Given the description of an element on the screen output the (x, y) to click on. 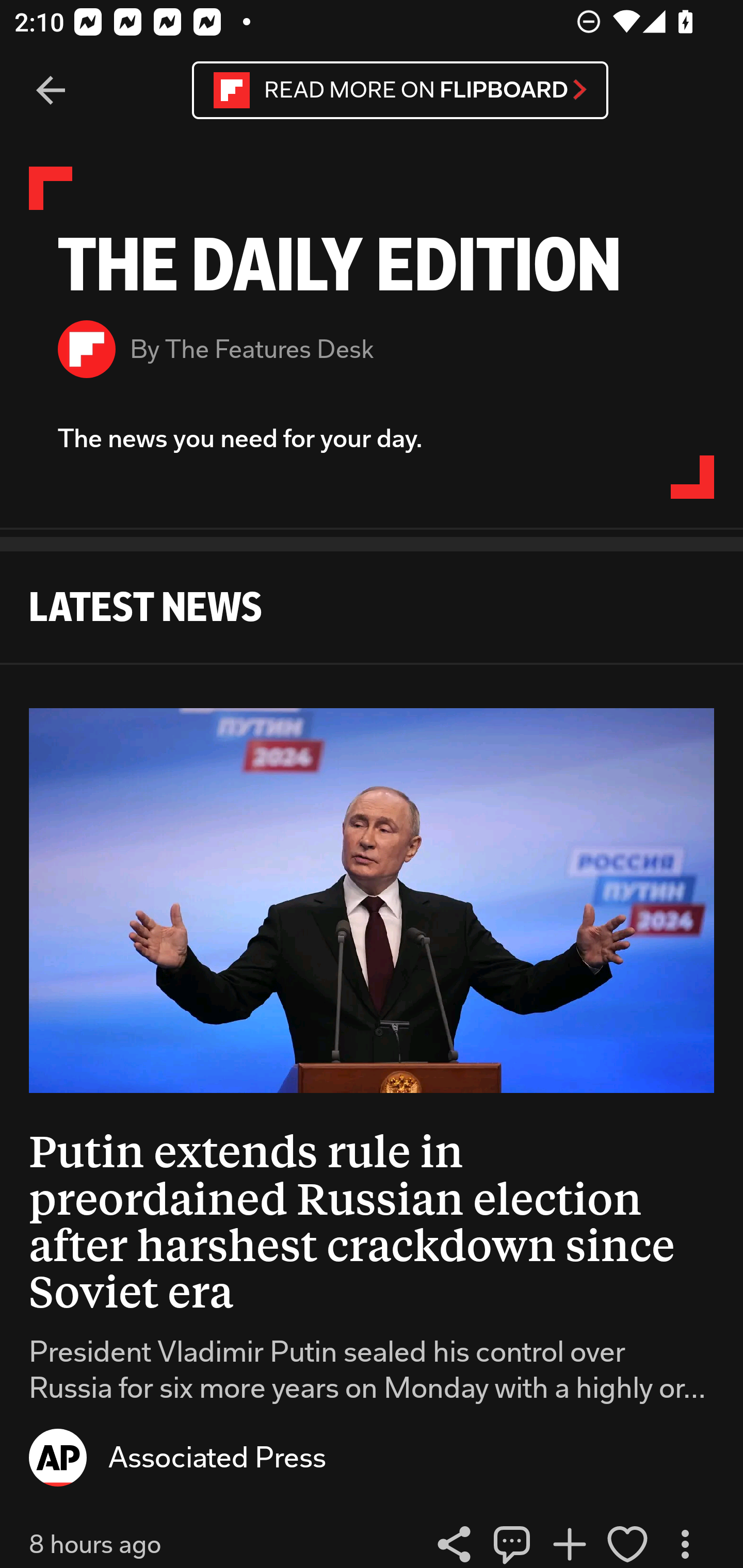
Back (50, 90)
READ MORE ON FLIPBOARD (399, 90)
By The Features Desk (371, 348)
Share (453, 1541)
Share (511, 1541)
Flip into Magazine (569, 1541)
Like (627, 1541)
Options (685, 1541)
